Given the description of an element on the screen output the (x, y) to click on. 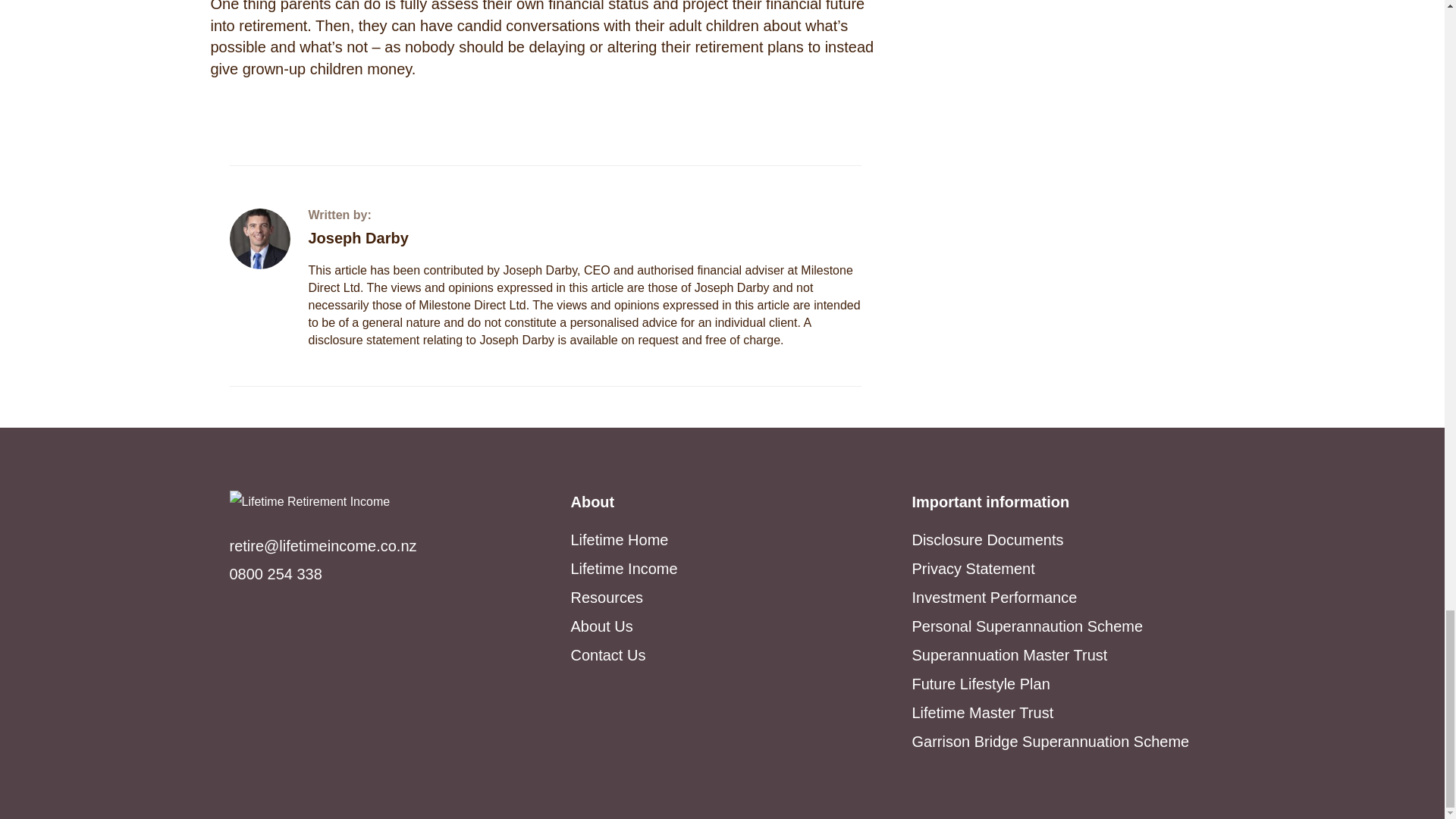
Resources (606, 597)
About Us (600, 626)
Contact Us (607, 655)
Lifetime Income (623, 568)
Lifetime Home (619, 539)
